Given the description of an element on the screen output the (x, y) to click on. 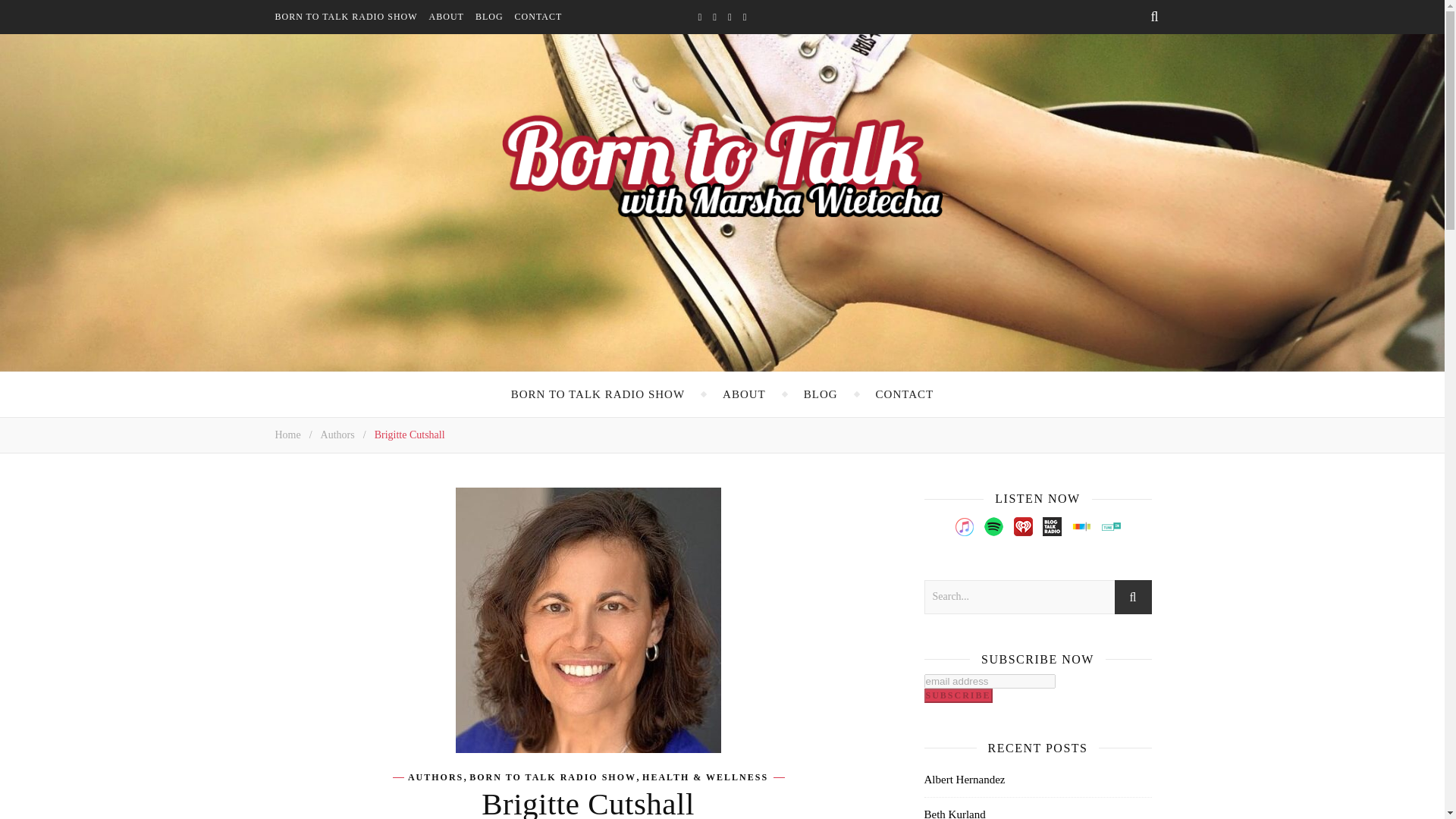
CONTACT (905, 393)
CONTACT (544, 17)
BLOG (495, 17)
Authors (337, 434)
BORN TO TALK RADIO SHOW (351, 17)
Home (287, 434)
AUTHORS (435, 777)
ABOUT (743, 393)
ABOUT (452, 17)
BORN TO TALK RADIO SHOW (552, 777)
Home (287, 434)
Authors (337, 434)
Born To Talk (721, 164)
Subscribe (957, 695)
BORN TO TALK RADIO SHOW (597, 393)
